Given the description of an element on the screen output the (x, y) to click on. 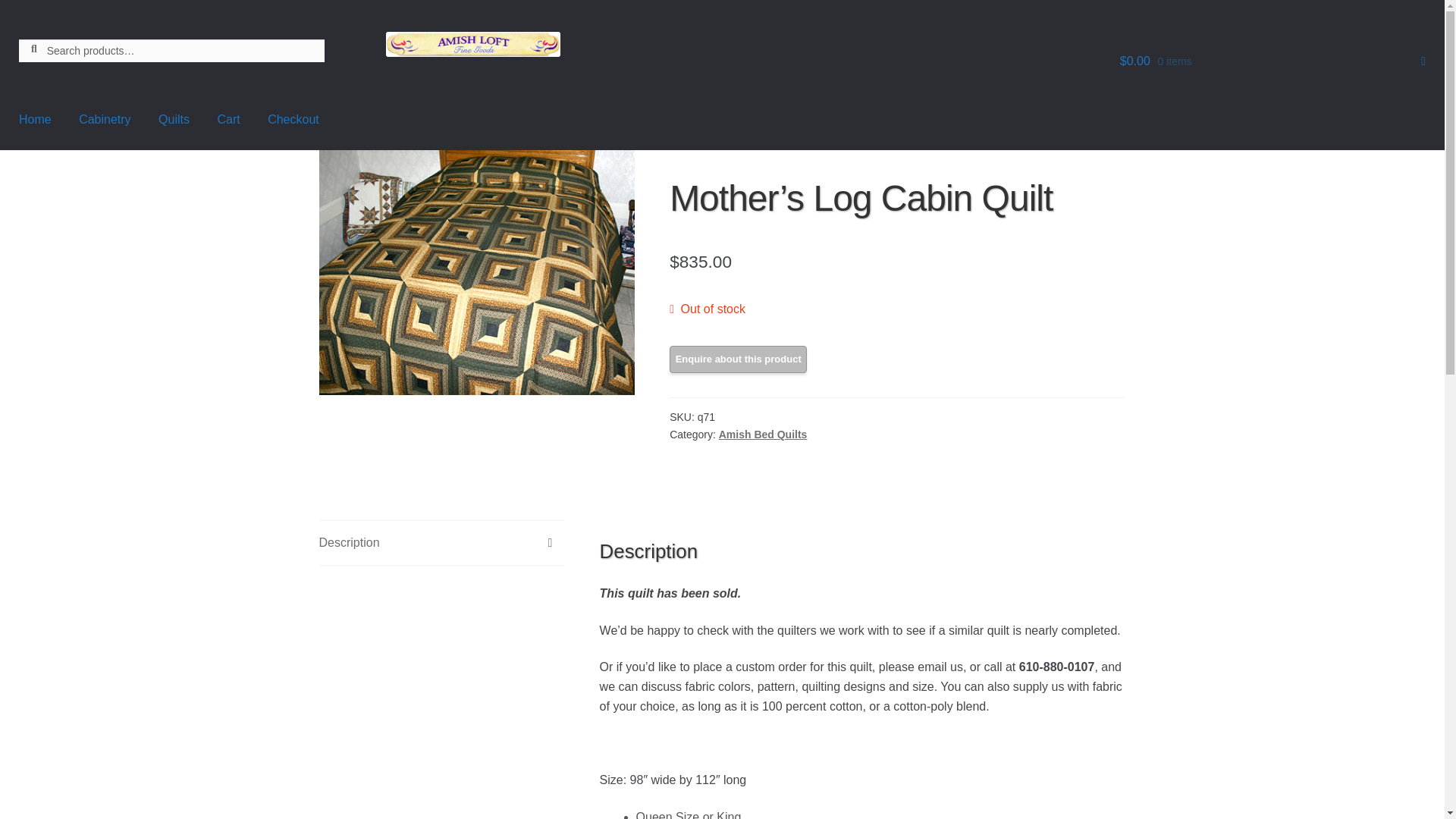
Amish Bed Quilts (763, 434)
Enquire about this product (737, 359)
Cabinetry (104, 119)
Description (441, 542)
q71 (476, 271)
Checkout (293, 119)
Home (35, 119)
Quilts (174, 119)
View your shopping cart (1272, 60)
